Given the description of an element on the screen output the (x, y) to click on. 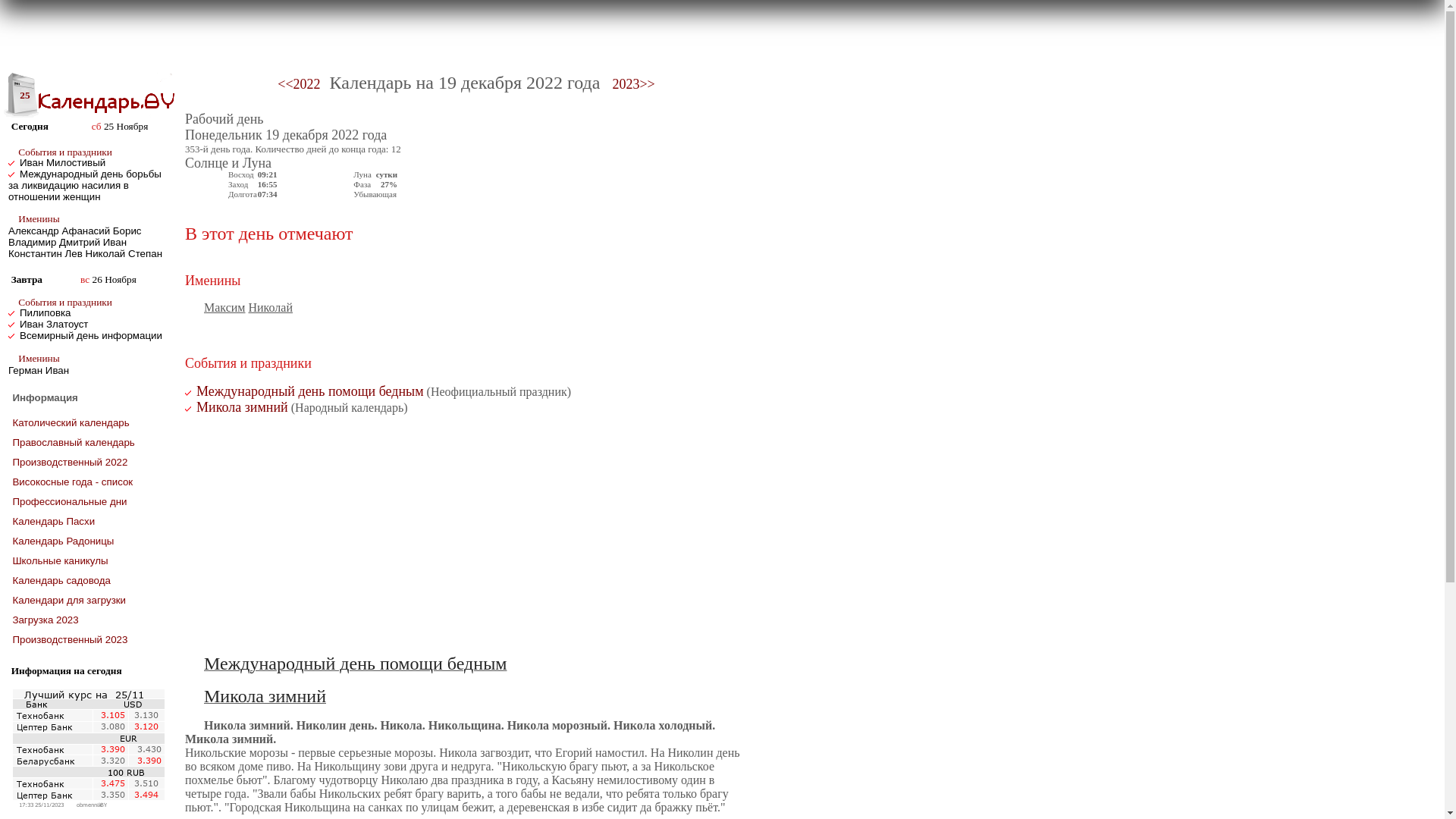
2023>> Element type: text (631, 84)
Advertisement Element type: hover (466, 533)
   25 Element type: text (21, 95)
<<2022 Element type: text (298, 84)
